Given the description of an element on the screen output the (x, y) to click on. 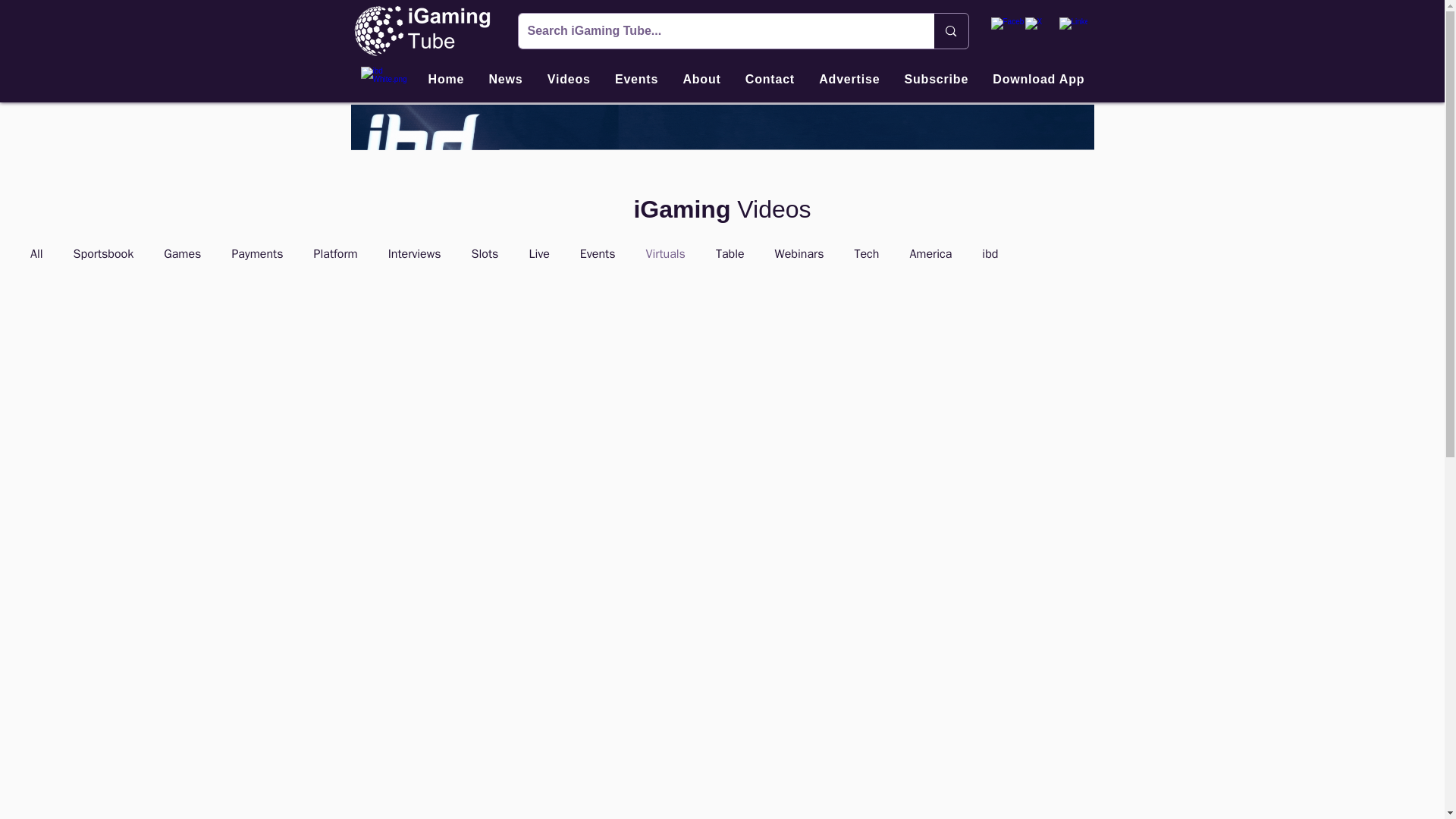
Videos (568, 79)
Home (446, 79)
News (505, 79)
